Given the description of an element on the screen output the (x, y) to click on. 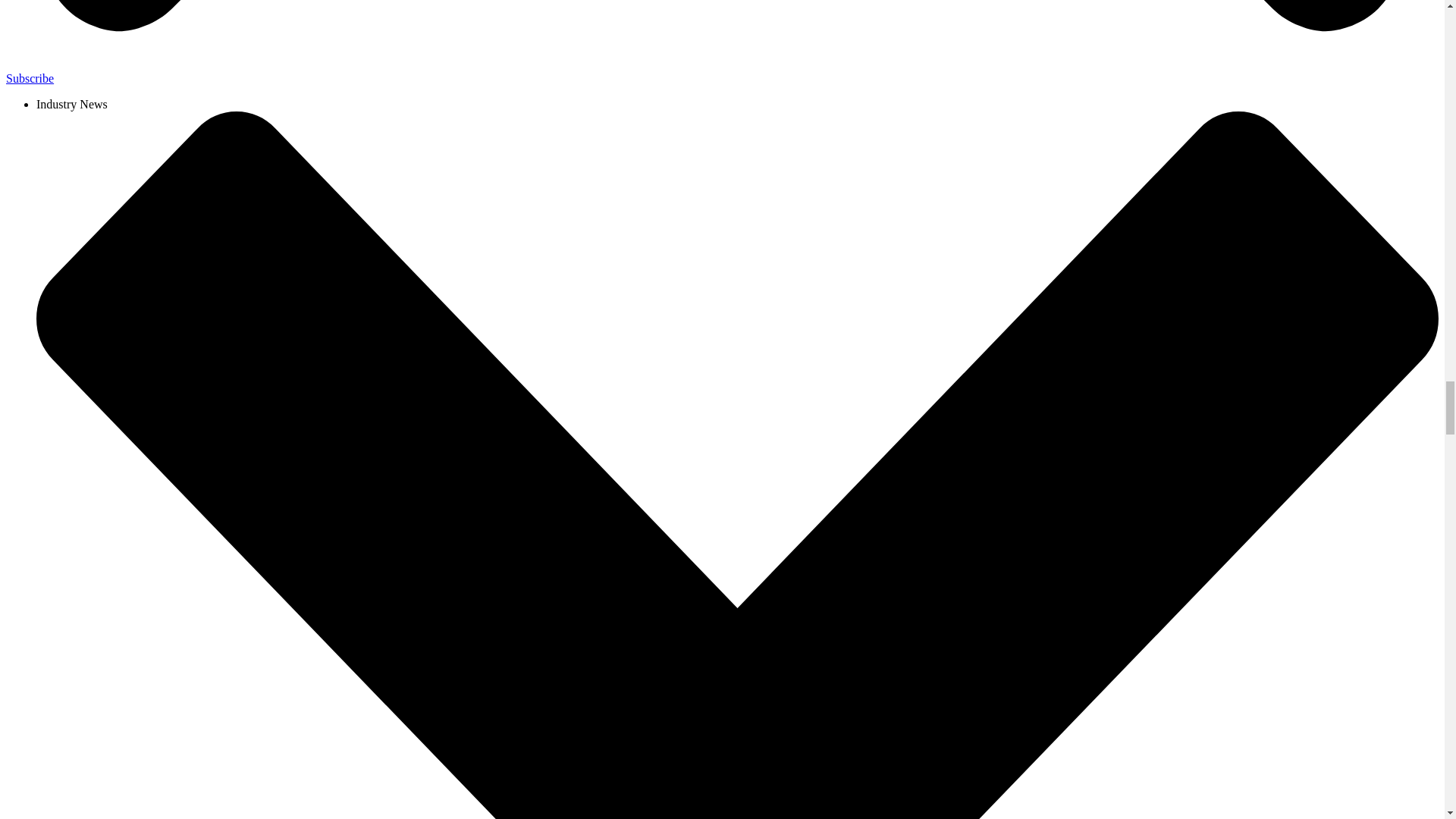
Industry News (71, 103)
Subscribe (29, 78)
